Given the description of an element on the screen output the (x, y) to click on. 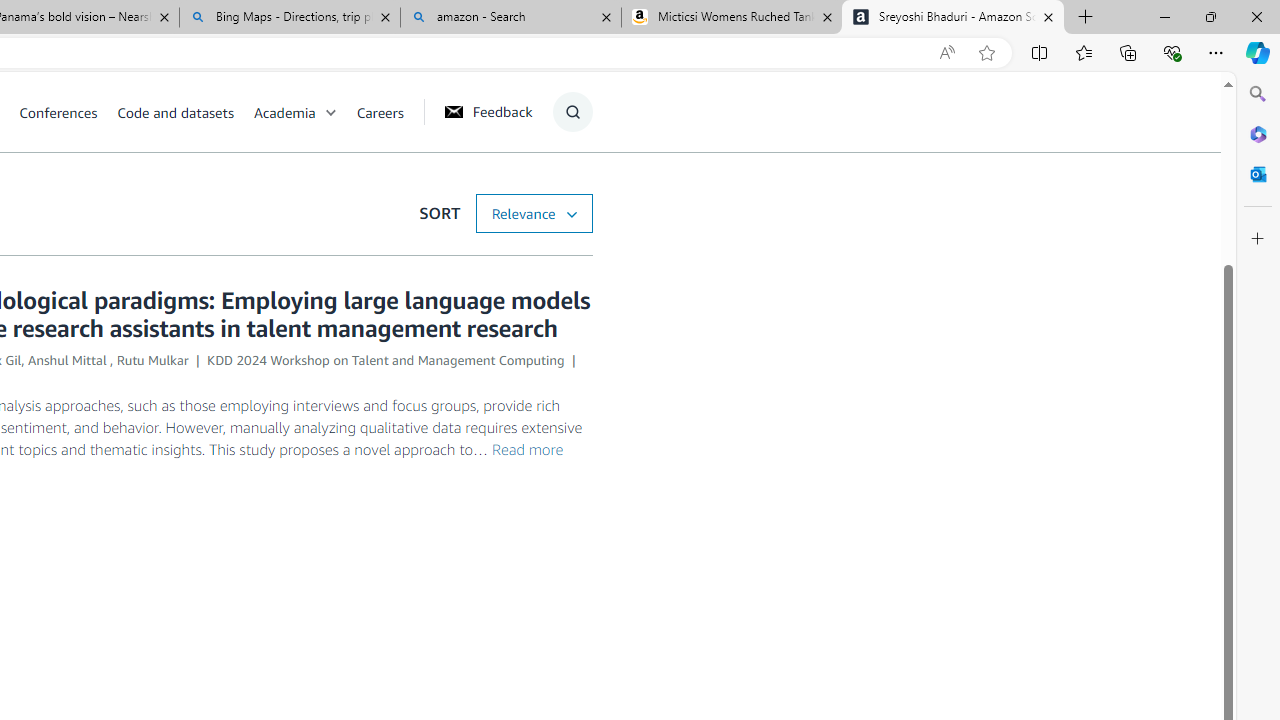
Code and datasets (175, 111)
Submit Search (565, 191)
Show Search Form (571, 111)
Search (1258, 94)
Rutu Mulkar (152, 360)
Feedback (488, 111)
Close tab (1048, 16)
Class: chevron (330, 116)
Sreyoshi Bhaduri - Amazon Science (953, 17)
amazon - Search (510, 17)
Academia (284, 111)
Read aloud this page (Ctrl+Shift+U) (946, 53)
Class: icon-magnify (571, 111)
Conferences (58, 111)
